Given the description of an element on the screen output the (x, y) to click on. 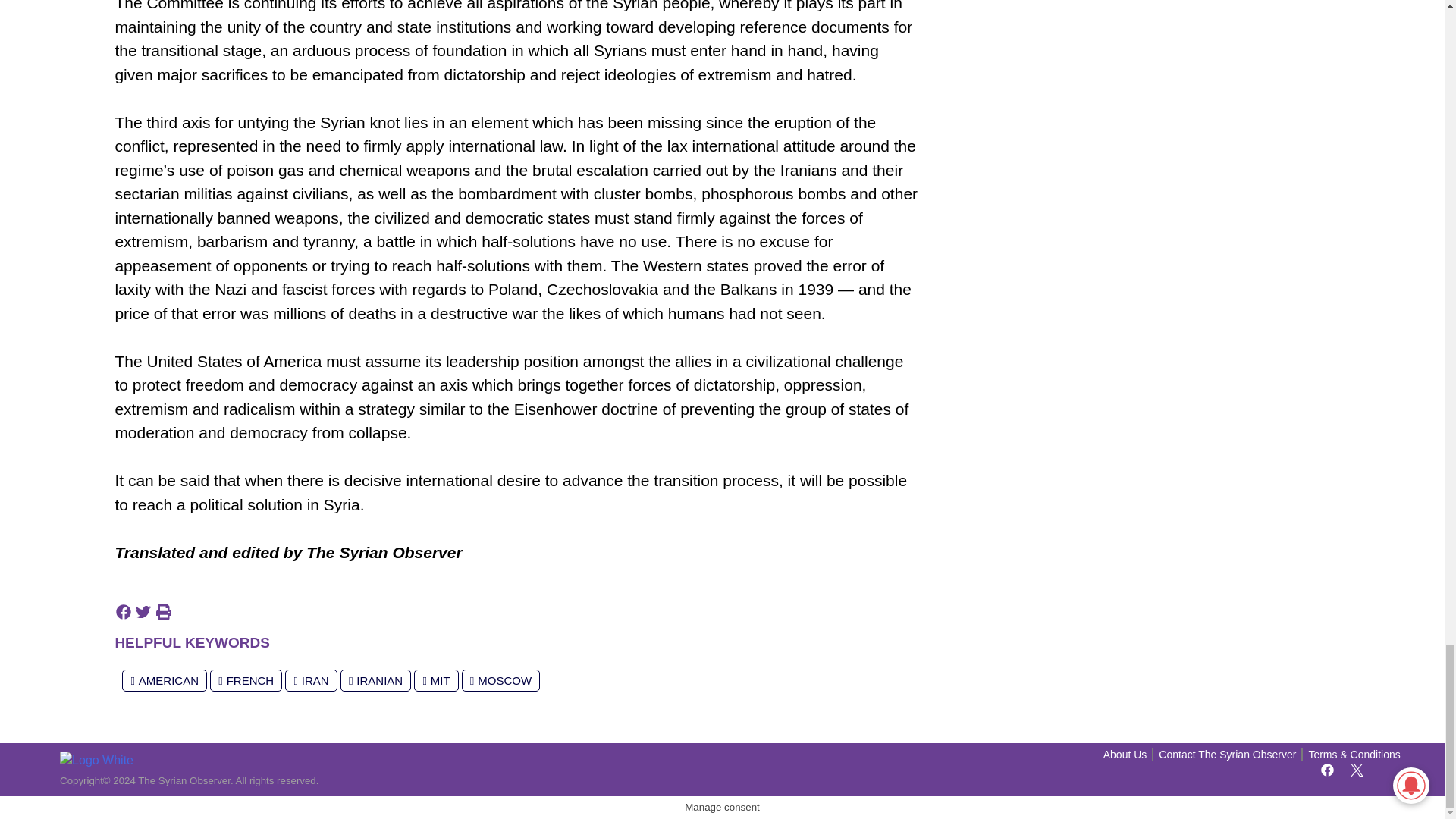
AMERICAN (164, 680)
IRANIAN (375, 680)
IRAN (310, 680)
MOSCOW (500, 680)
MIT (435, 680)
FRENCH (245, 680)
About Us (1125, 754)
Contact The Syrian Observer (1227, 754)
